Given the description of an element on the screen output the (x, y) to click on. 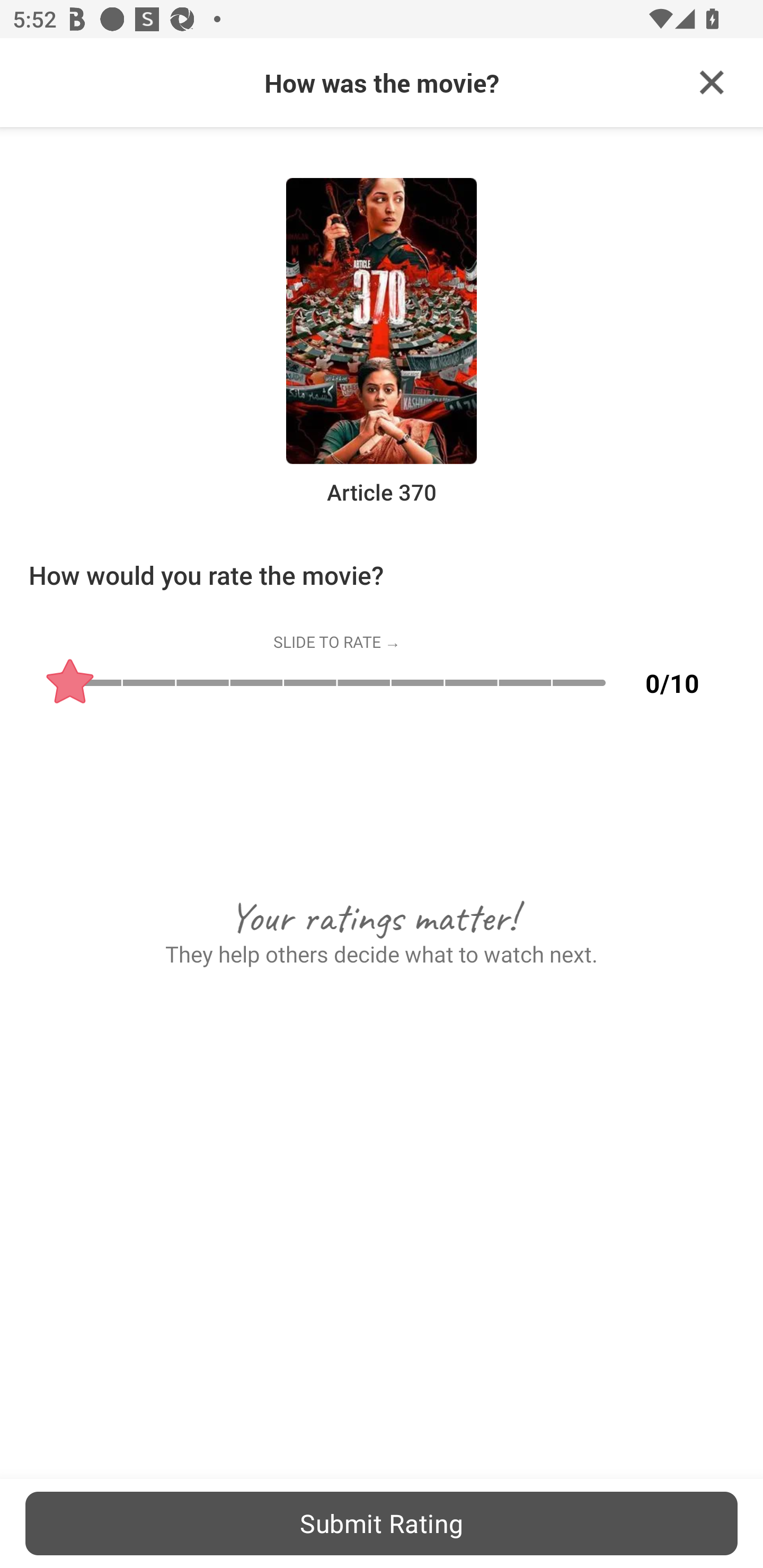
Close (711, 82)
Submit Rating (381, 1523)
